Given the description of an element on the screen output the (x, y) to click on. 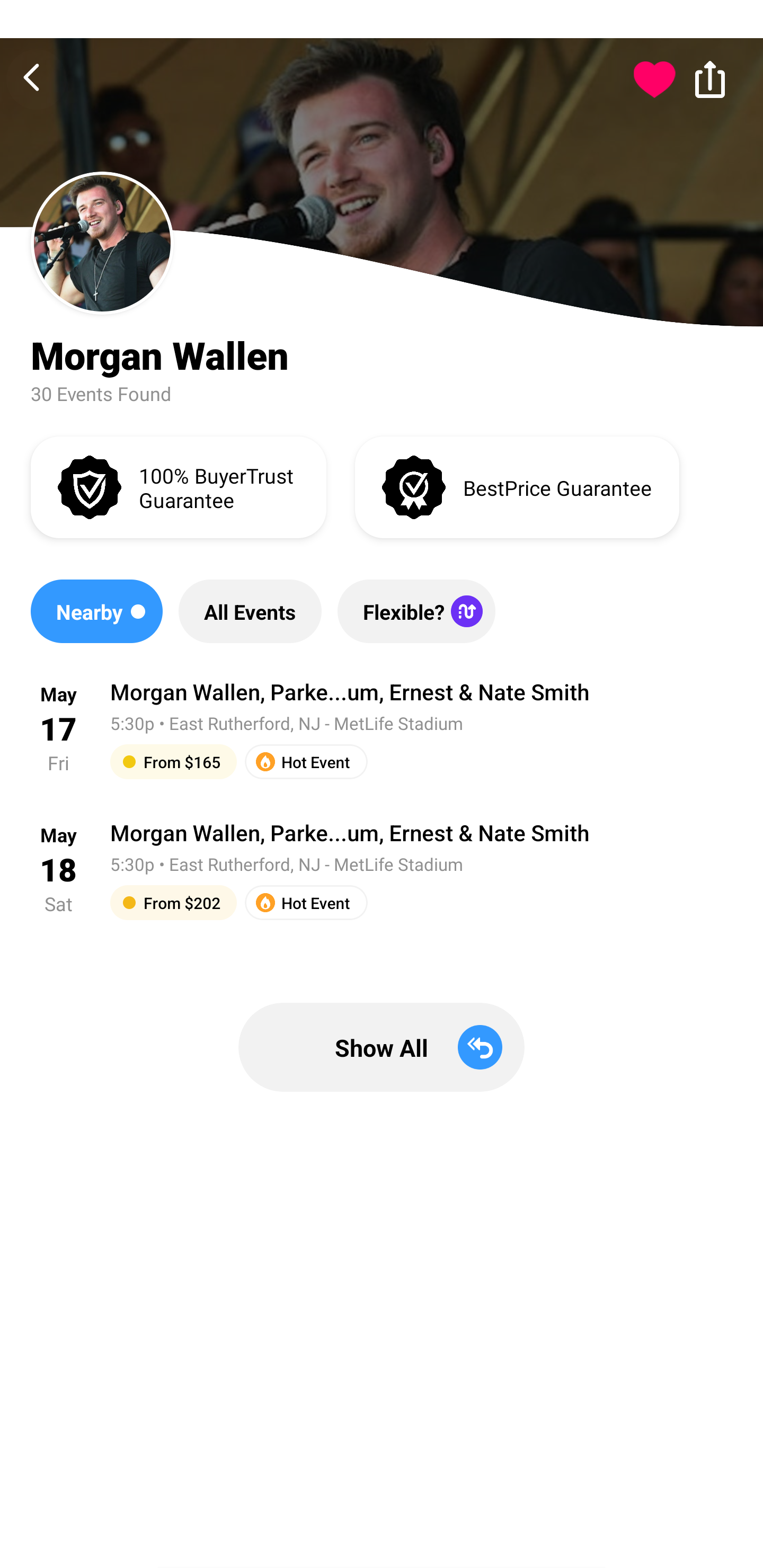
100% BuyerTrust Guarantee (178, 486)
BestPrice Guarantee (516, 486)
Nearby (96, 611)
All Events (249, 611)
Flexible? (416, 611)
Show All (381, 1047)
